Given the description of an element on the screen output the (x, y) to click on. 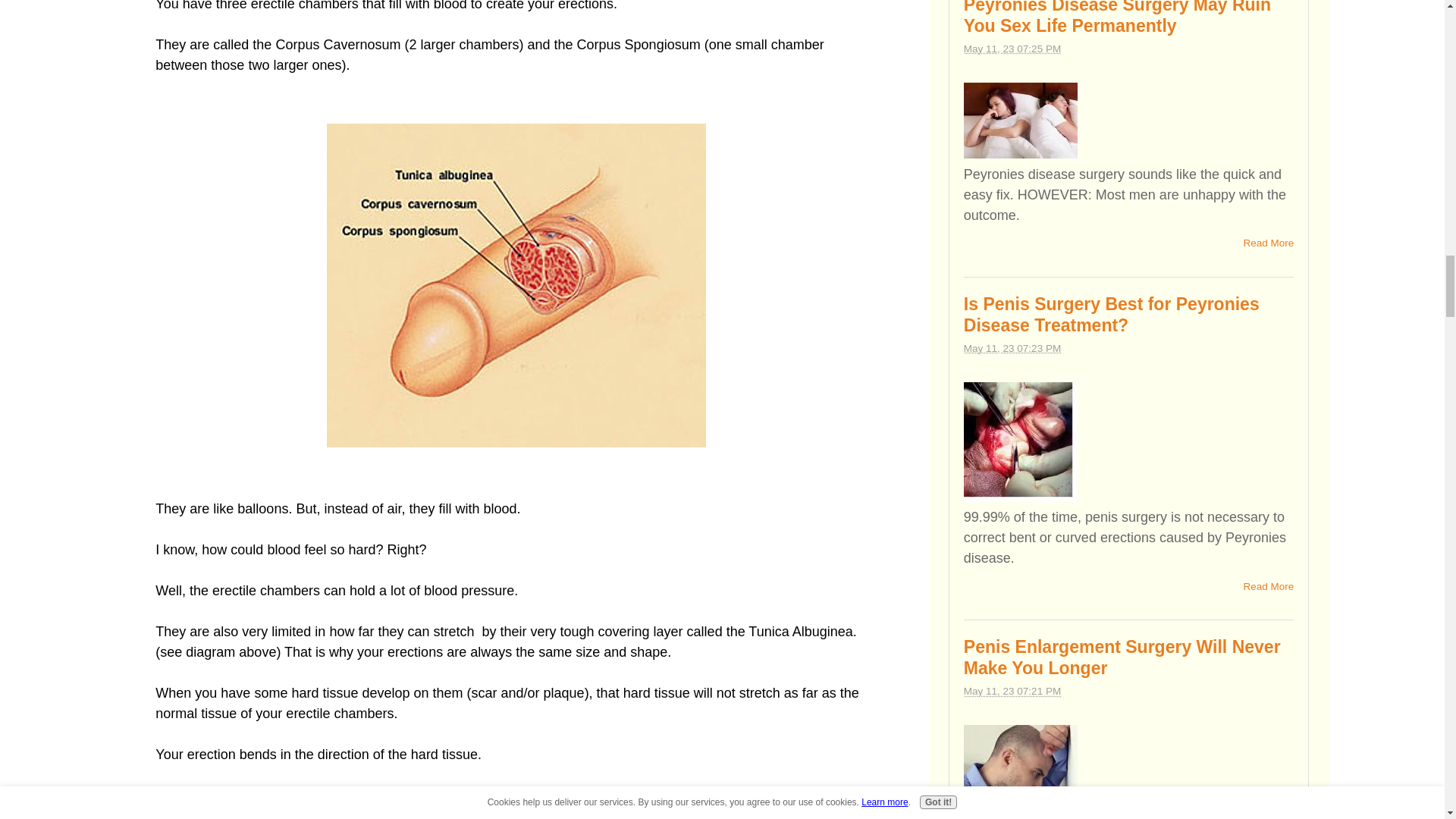
2023-05-11T19:25:25-0400 (1012, 48)
2023-05-11T19:21:40-0400 (1012, 690)
erectile chambers, tunica albuginea, and peyronies disease (515, 285)
2023-05-11T19:23:42-0400 (1012, 348)
